Given the description of an element on the screen output the (x, y) to click on. 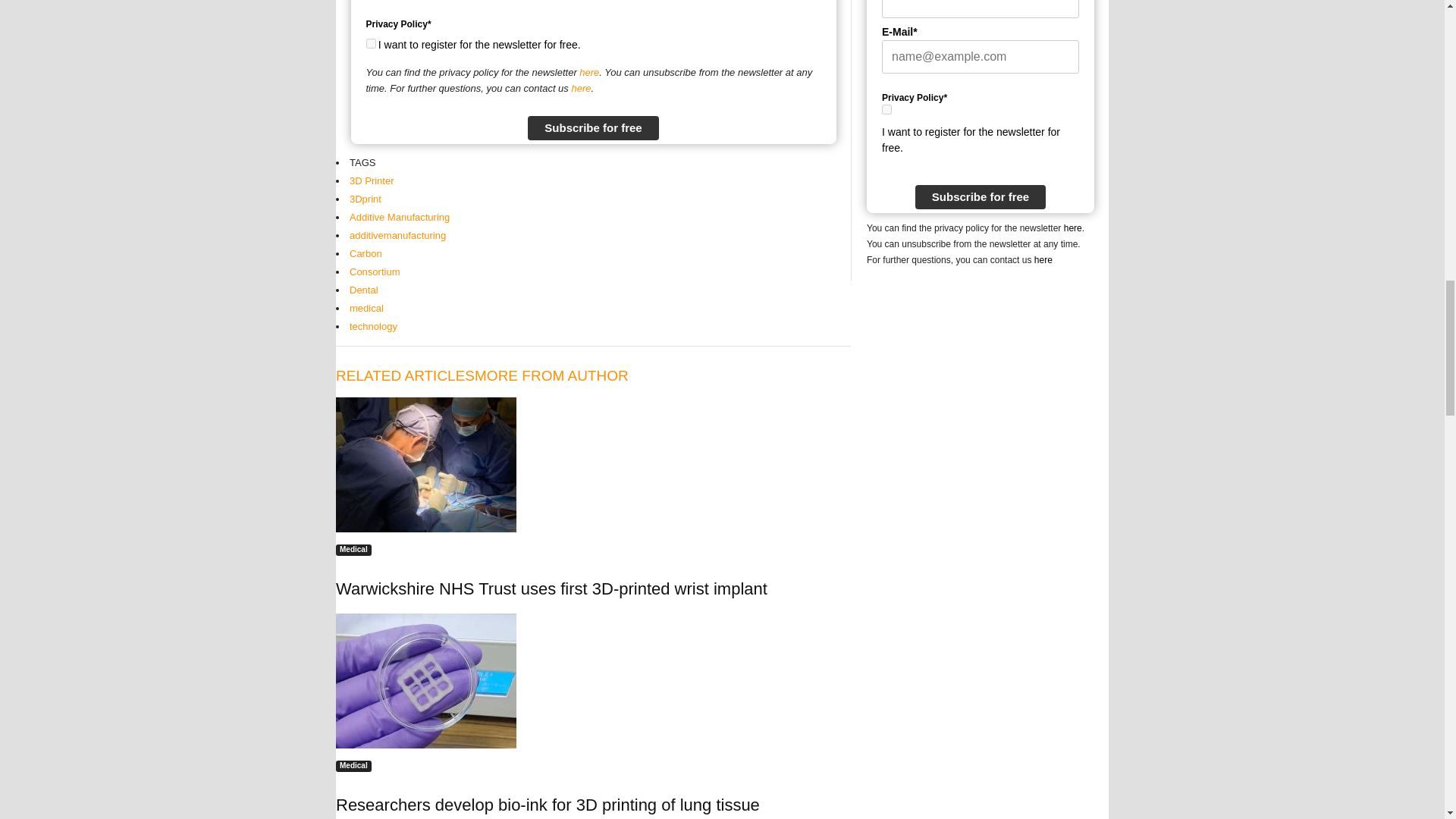
Researchers develop bio-ink for 3D printing of lung tissue (593, 680)
I want to register for the newsletter for free. (886, 109)
Warwickshire NHS Trust uses first 3D-printed wrist implant (551, 588)
Researchers develop bio-ink for 3D printing of lung tissue (548, 804)
I want to register for the newsletter for free. (370, 43)
Warwickshire NHS Trust uses first 3D-printed wrist implant (426, 464)
Researchers develop bio-ink for 3D printing of lung tissue (426, 680)
Warwickshire NHS Trust uses first 3D-printed wrist implant (593, 464)
